Given the description of an element on the screen output the (x, y) to click on. 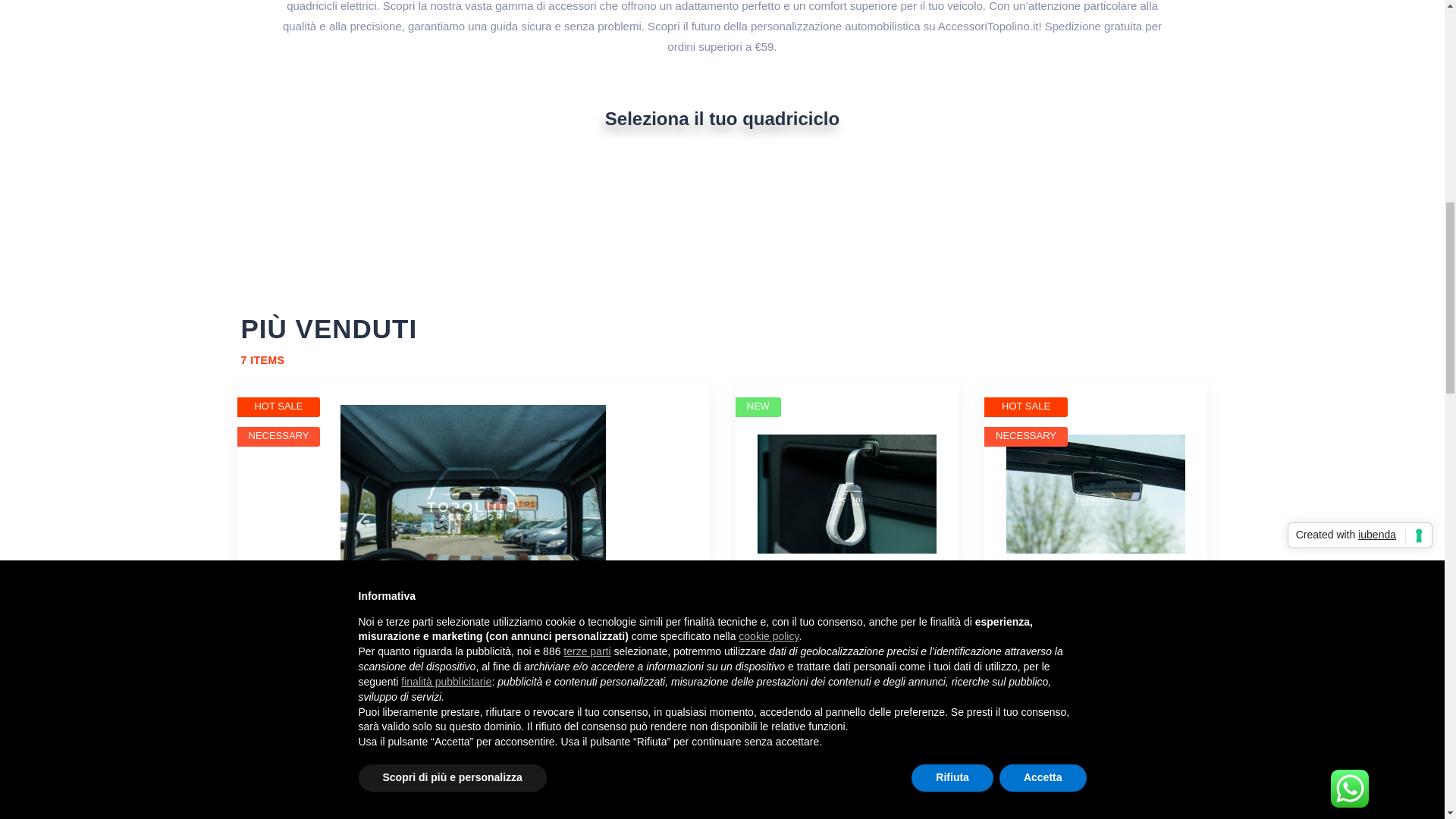
KIT Tenda Parasole (473, 508)
